Given the description of an element on the screen output the (x, y) to click on. 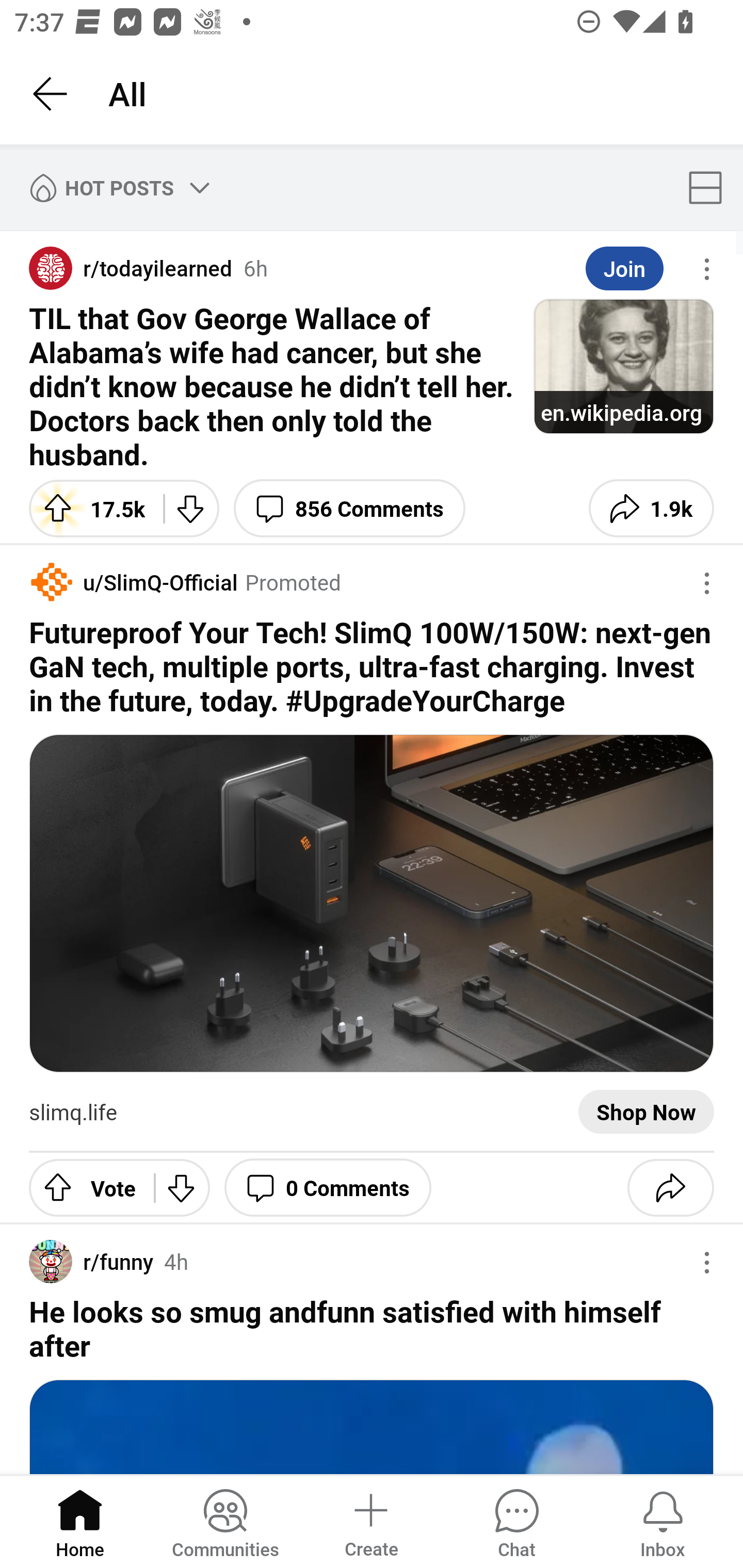
HOT POSTS Sort by Hot posts (115, 187)
Card display (711, 187)
Avatar r/todayilearned (130, 267)
Join (624, 268)
Overflow menu (706, 268)
Thumbnail image en.wikipedia.org (623, 365)
Upvote 17.5k (88, 507)
Downvote (191, 507)
856 Comments (349, 507)
Share 1.9k (651, 507)
Avatar (50, 581)
u/SlimQ-Official (154, 582)
Overflow menu (706, 583)
Image (371, 902)
slimq.life (72, 1112)
Shop Now (646, 1112)
Upvote Vote (83, 1187)
Downvote (181, 1187)
0 Comments (327, 1187)
Share (670, 1187)
Avatar r/funny (90, 1262)
Overflow menu (706, 1263)
Home (80, 1520)
Communities (225, 1520)
Create a post Create (370, 1520)
Chat (516, 1520)
Inbox (662, 1520)
